Given the description of an element on the screen output the (x, y) to click on. 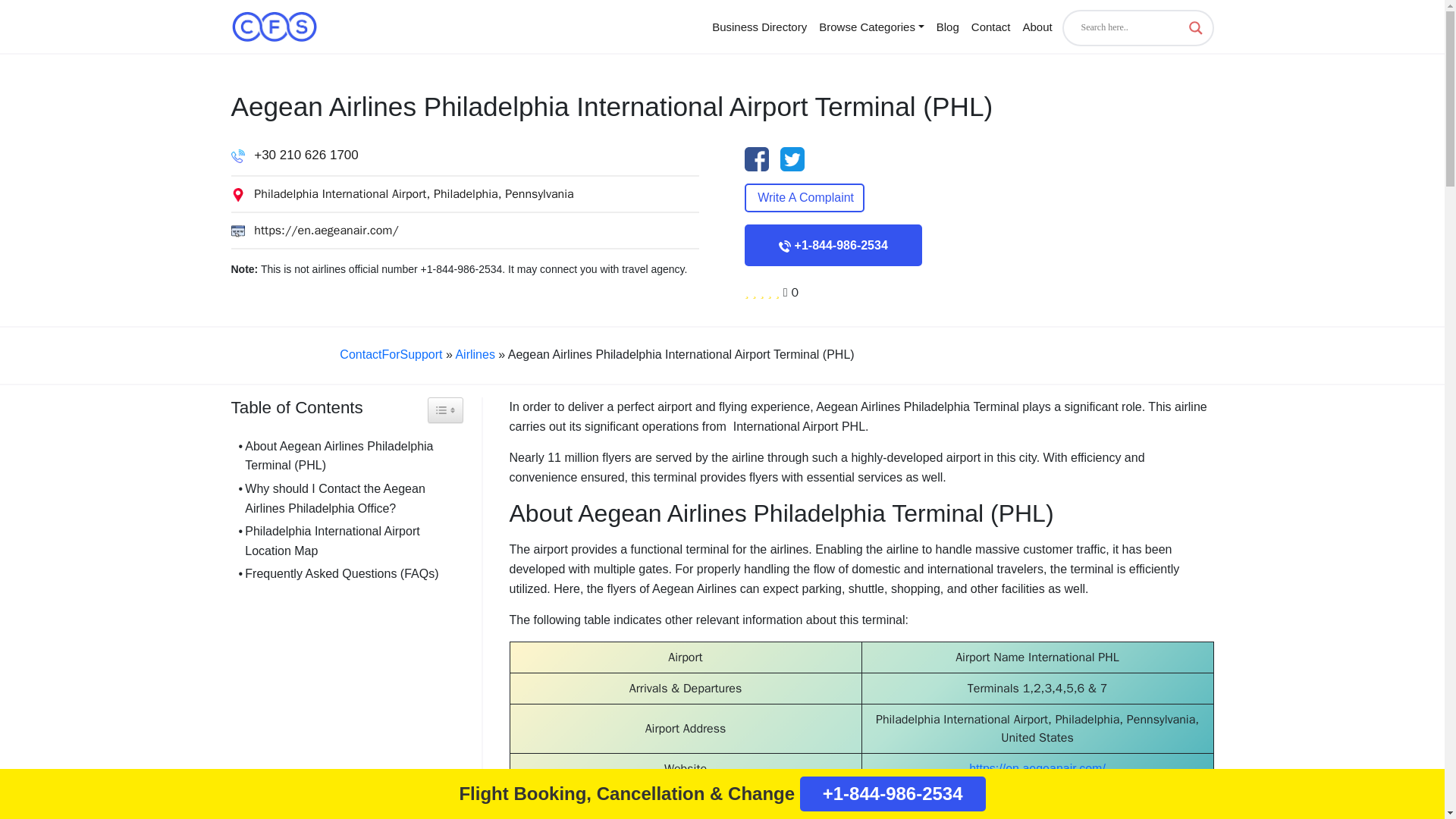
Contact (990, 25)
Browse Categories (871, 25)
ContactForSupport (390, 354)
Browse Categories (871, 25)
Airlines (474, 354)
Contact (990, 25)
Business Directory (759, 25)
Business Directory (759, 25)
About (1037, 25)
Toggle Table of Content (445, 410)
About (1037, 25)
Philadelphia International Airport Location Map (346, 540)
Write A Complaint (804, 197)
